Given the description of an element on the screen output the (x, y) to click on. 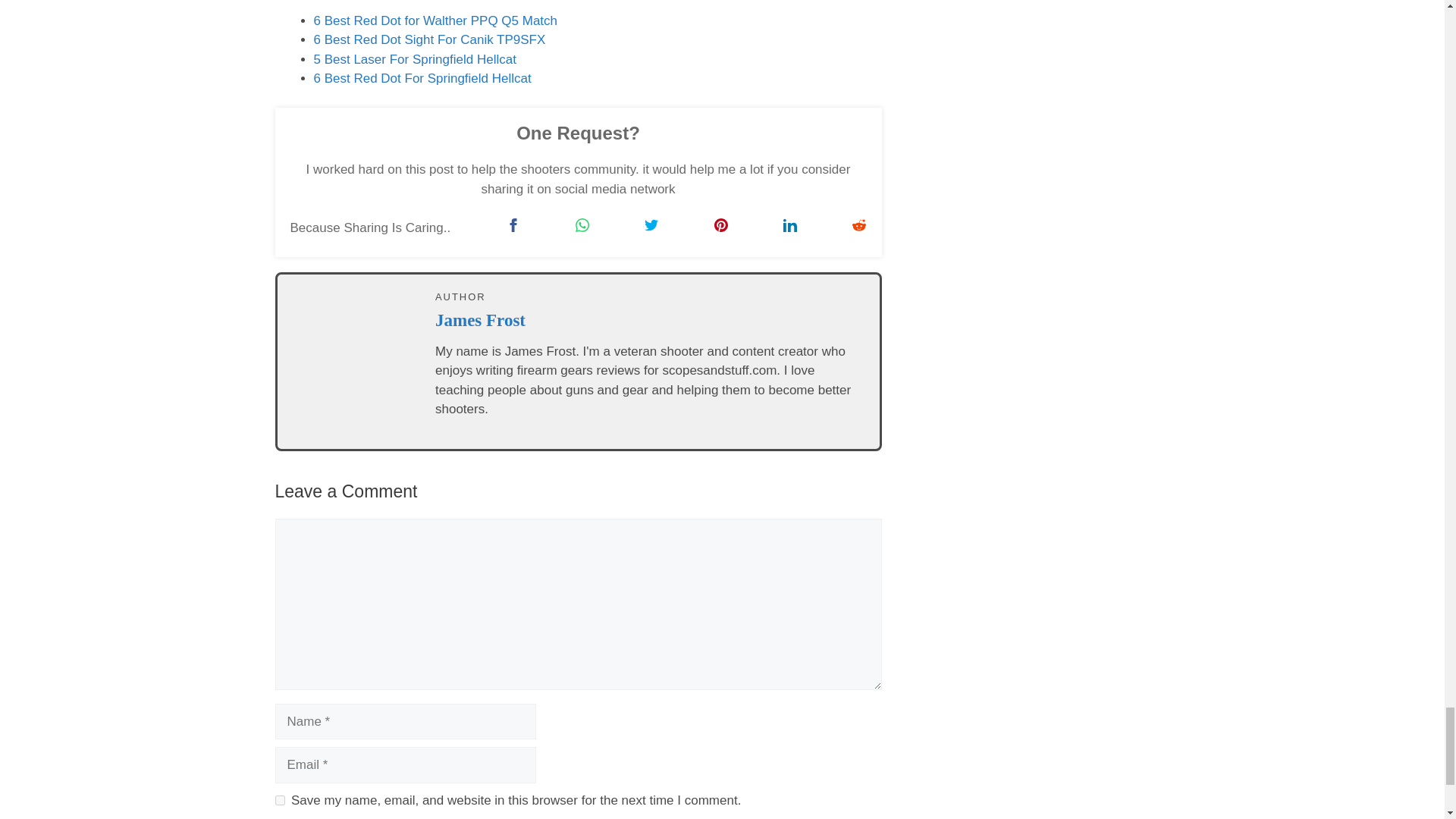
yes (279, 800)
